Given the description of an element on the screen output the (x, y) to click on. 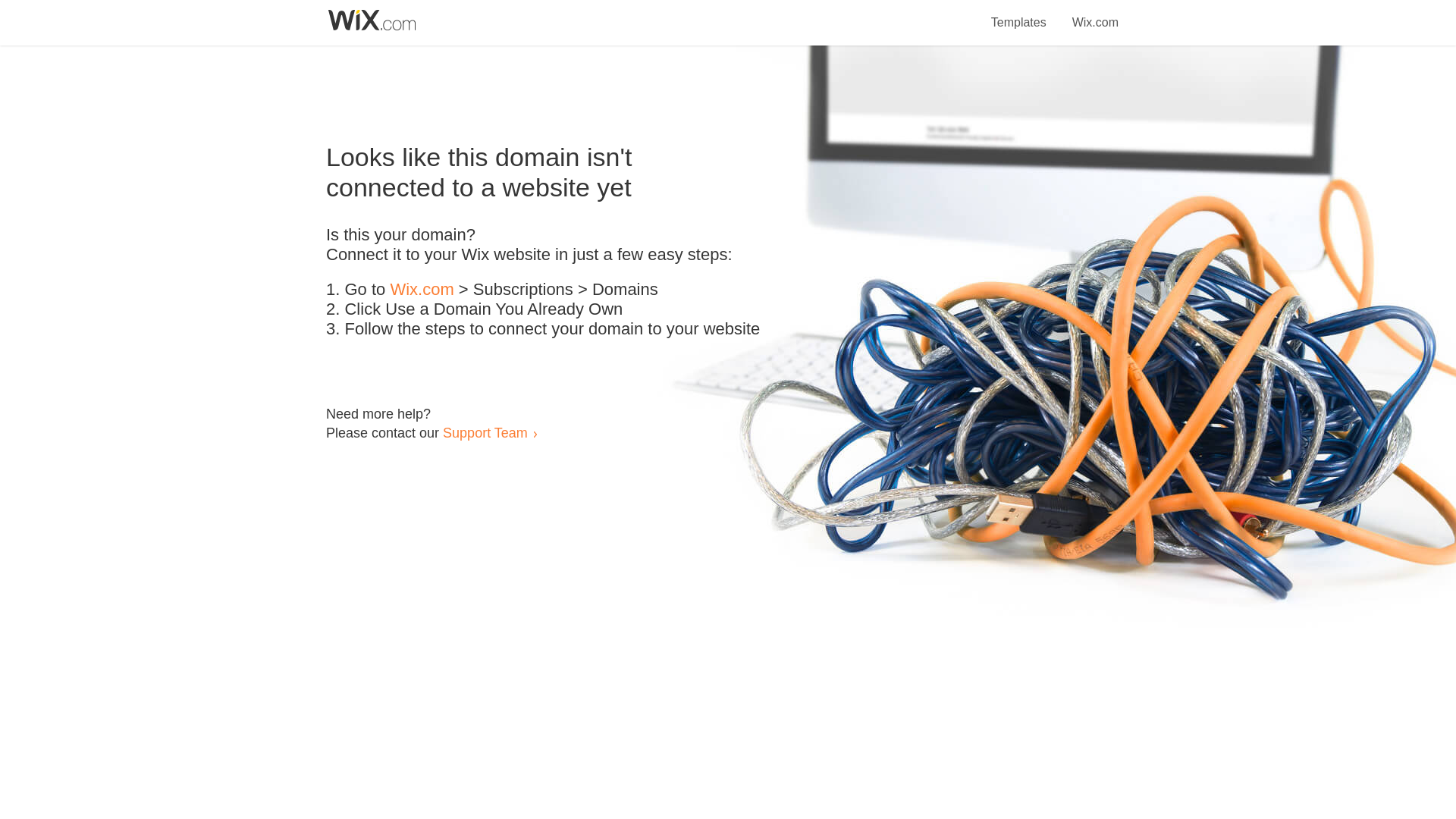
Support Team (484, 432)
Wix.com (1095, 14)
Wix.com (421, 289)
Templates (1018, 14)
